Given the description of an element on the screen output the (x, y) to click on. 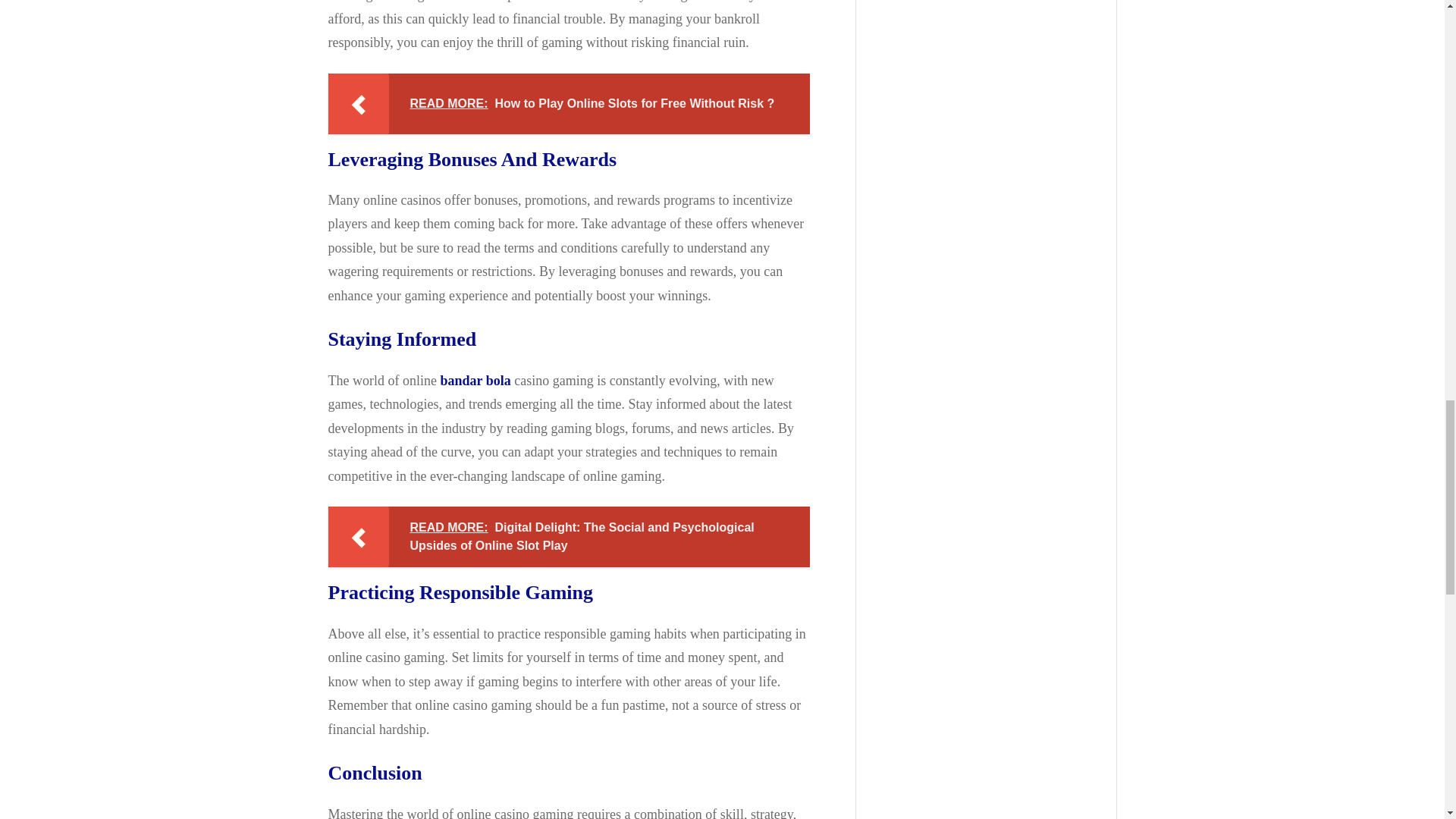
bandar bola (475, 380)
